Given the description of an element on the screen output the (x, y) to click on. 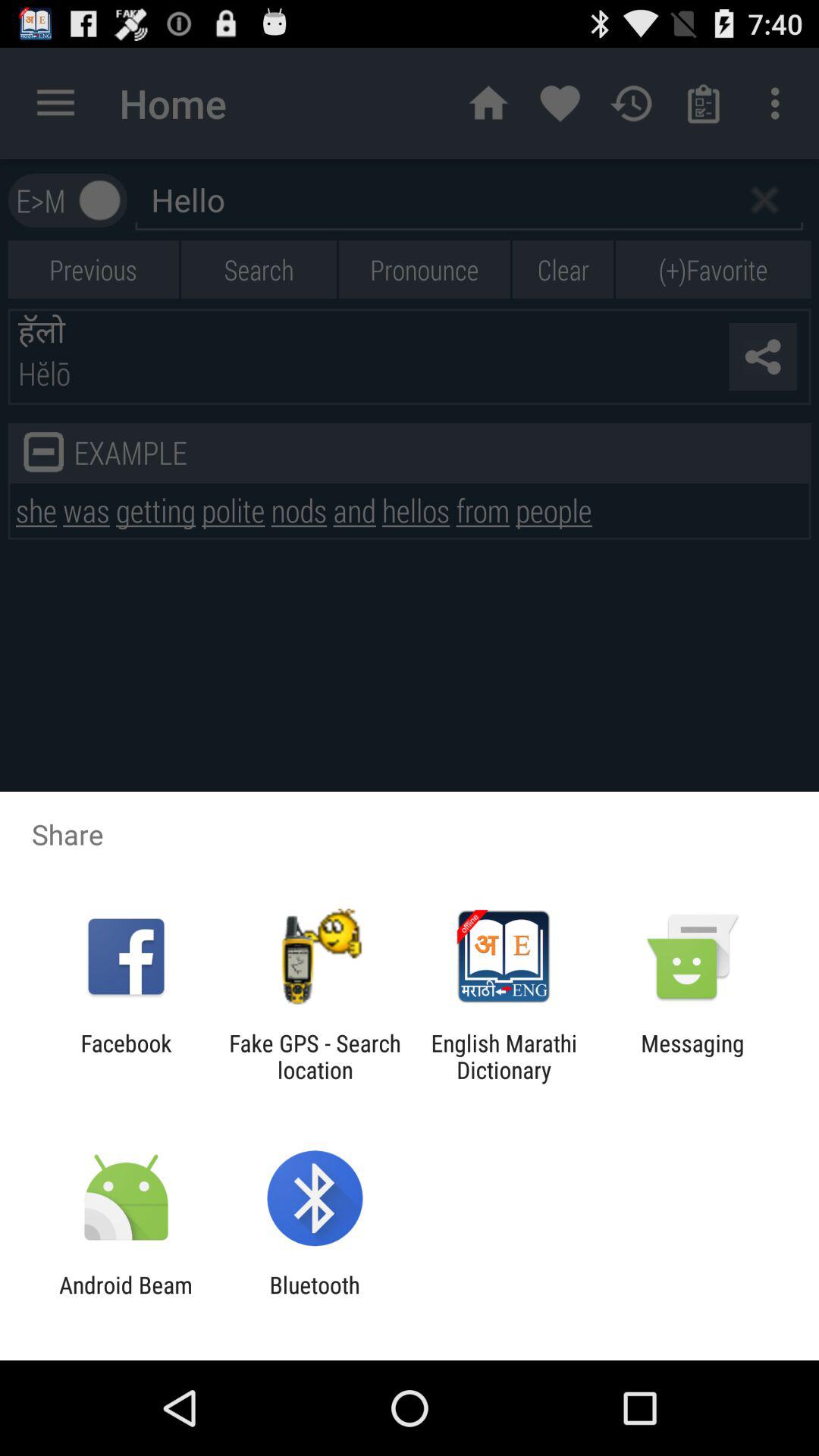
turn off the app to the right of fake gps search item (503, 1056)
